Given the description of an element on the screen output the (x, y) to click on. 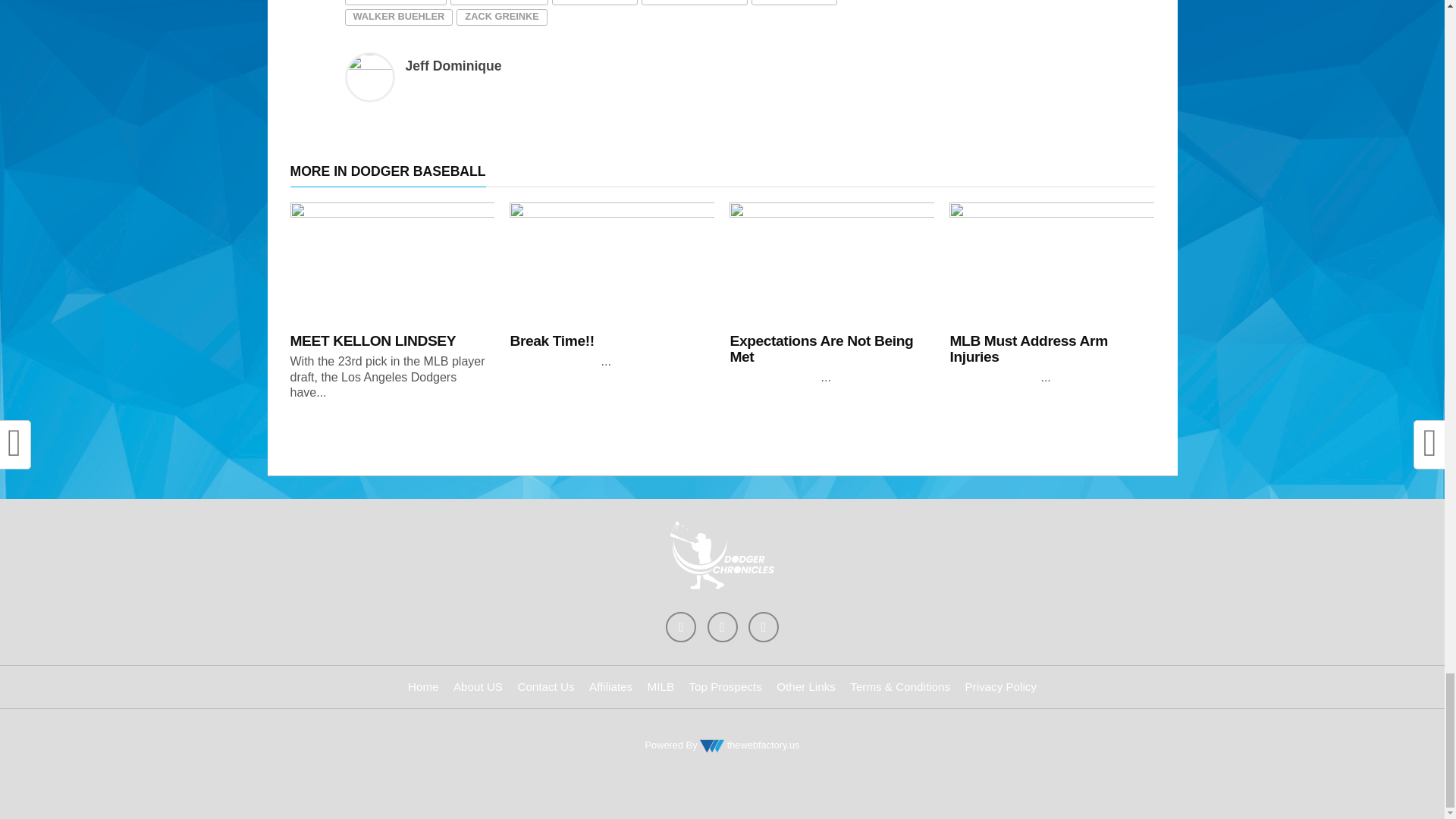
Posts by Jeff Dominique (452, 65)
